Given the description of an element on the screen output the (x, y) to click on. 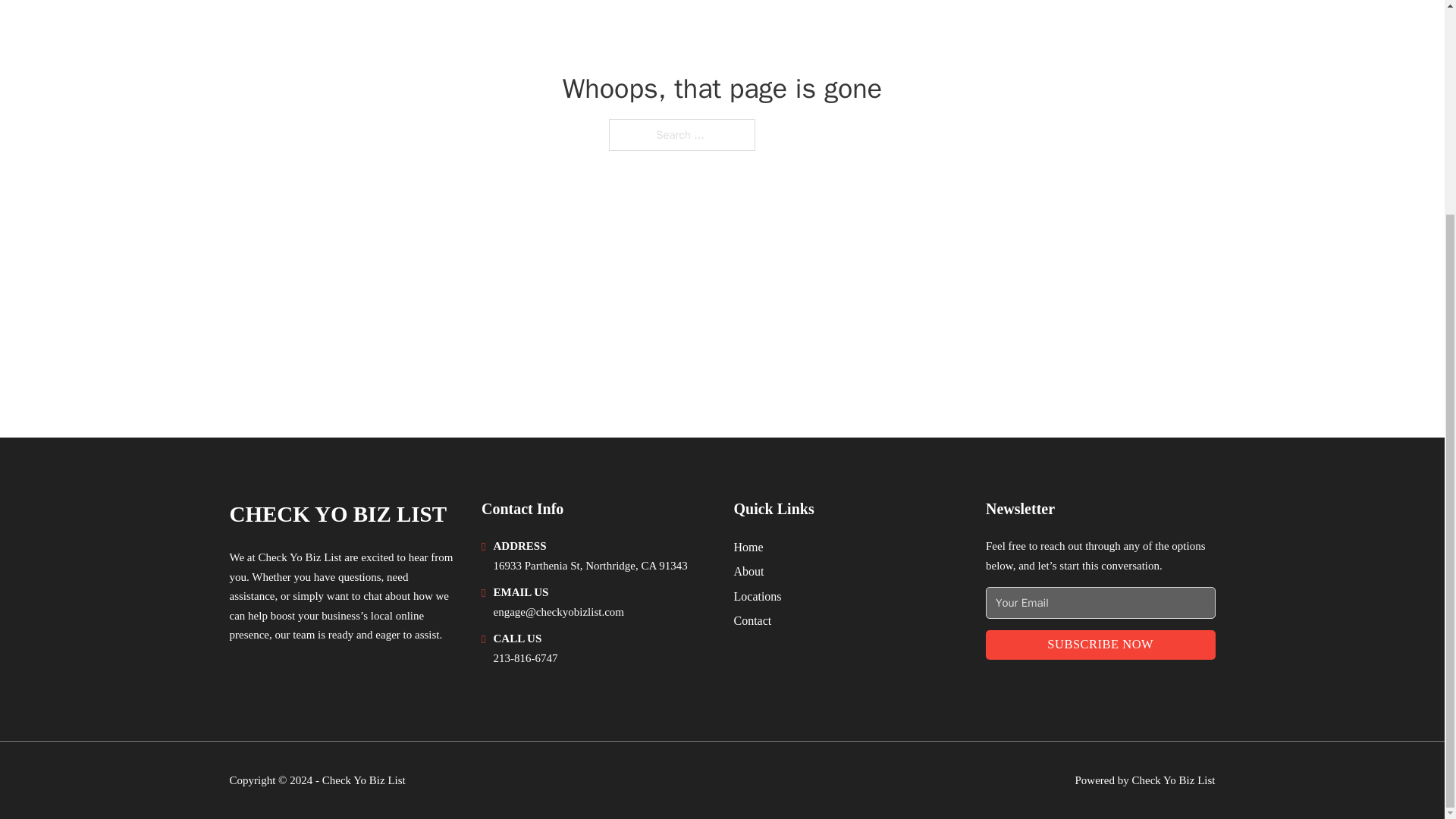
CHECK YO BIZ LIST (337, 514)
Home (747, 547)
Contact (752, 620)
About (748, 571)
Locations (757, 596)
SUBSCRIBE NOW (1100, 644)
